Given the description of an element on the screen output the (x, y) to click on. 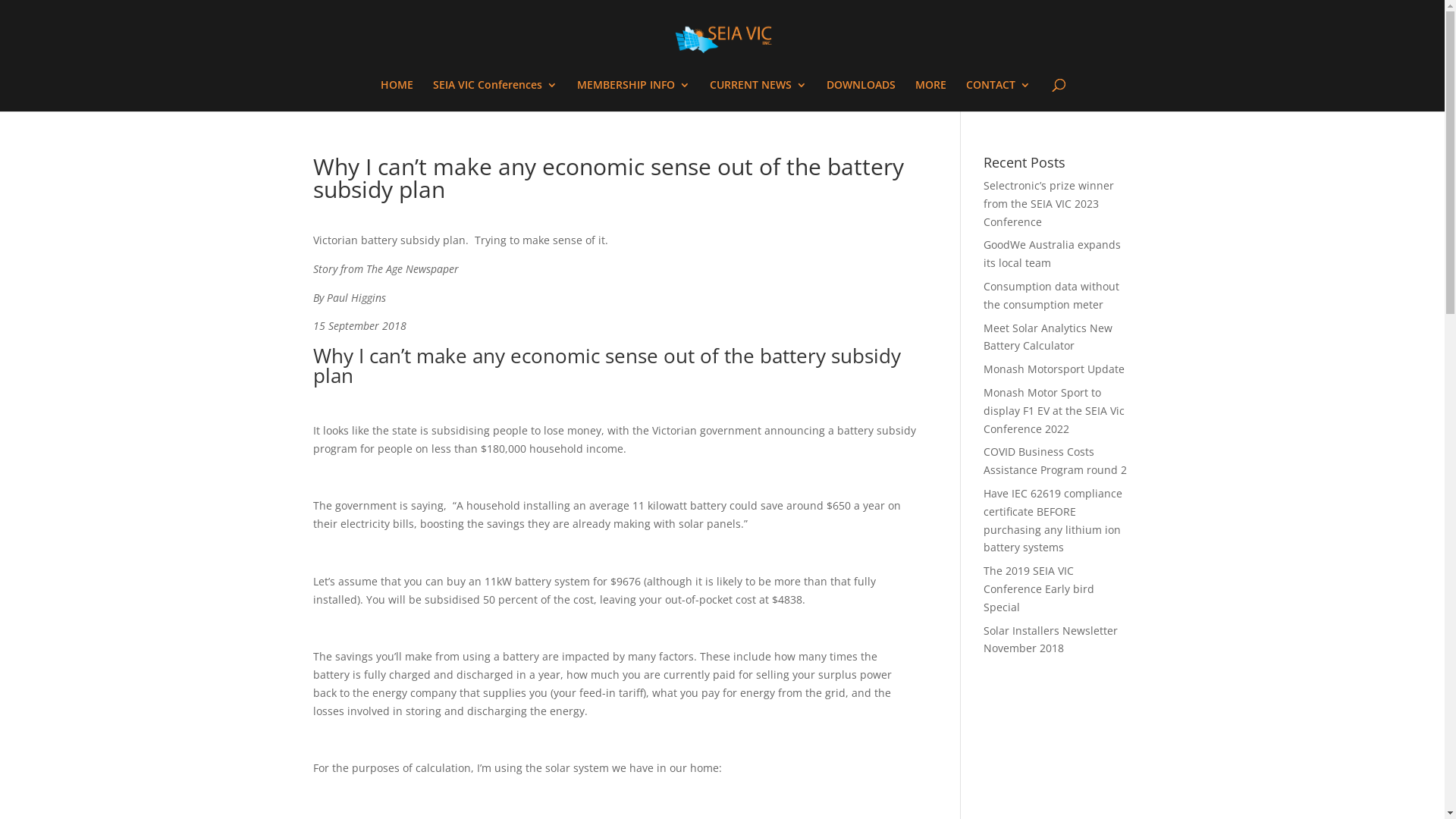
MEMBERSHIP INFO Element type: text (633, 95)
SEIA VIC Conferences Element type: text (495, 95)
Solar Installers Newsletter November 2018 Element type: text (1050, 639)
HOME Element type: text (396, 95)
Monash Motorsport Update Element type: text (1053, 368)
COVID Business Costs Assistance Program round 2 Element type: text (1054, 460)
GoodWe Australia expands its local team Element type: text (1051, 253)
Consumption data without the consumption meter Element type: text (1051, 295)
CONTACT Element type: text (998, 95)
MORE Element type: text (930, 95)
CURRENT NEWS Element type: text (757, 95)
Meet Solar Analytics New Battery Calculator Element type: text (1047, 336)
DOWNLOADS Element type: text (860, 95)
The 2019 SEIA VIC Conference Early bird Special Element type: text (1038, 588)
